Given the description of an element on the screen output the (x, y) to click on. 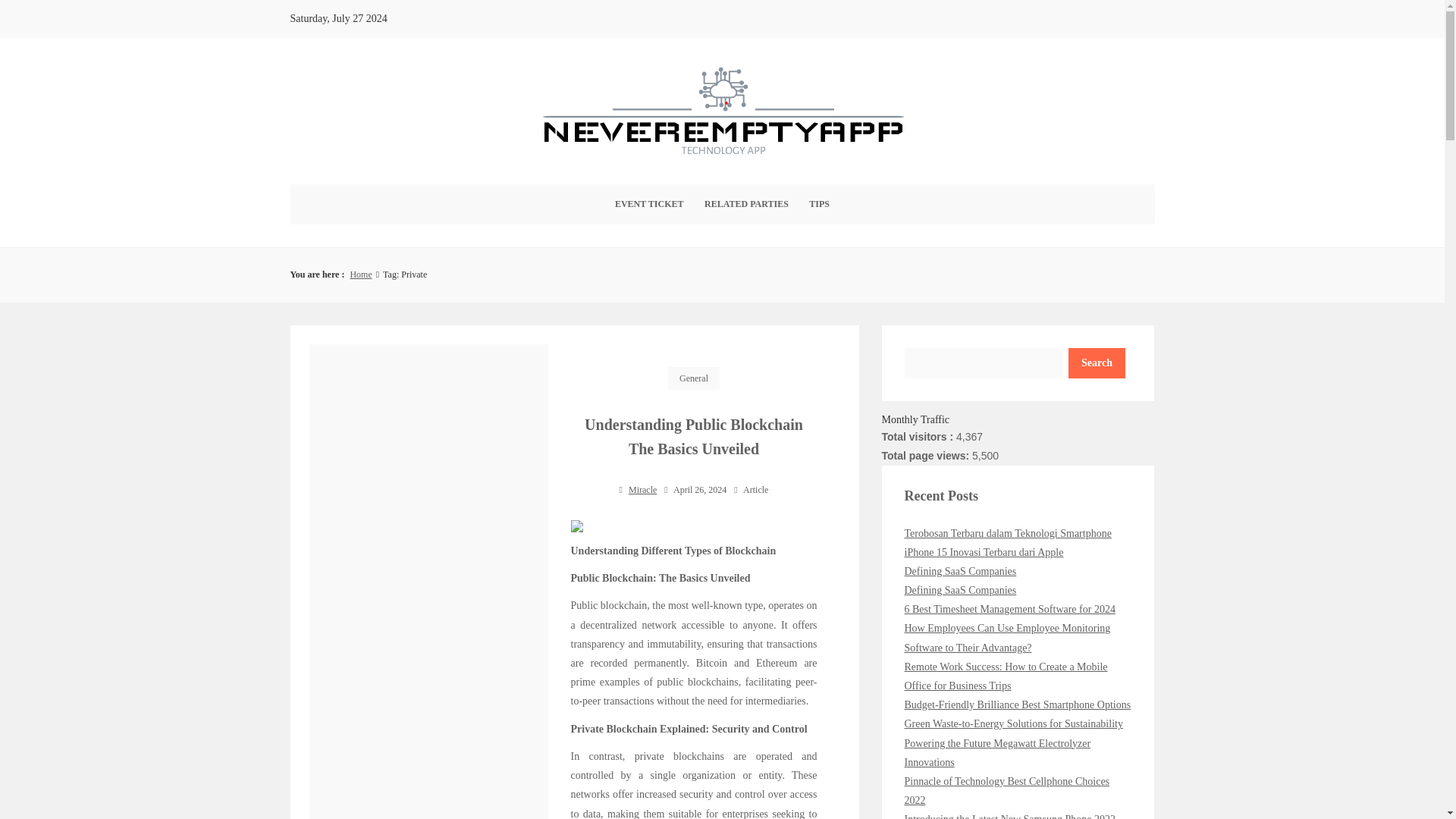
Search (1096, 363)
Home (360, 274)
General (693, 377)
RELATED PARTIES (746, 204)
EVENT TICKET (649, 204)
Posts by Miracle (642, 489)
TIPS (818, 204)
Understanding Public Blockchain The Basics Unveiled (694, 436)
Miracle (642, 489)
